Given the description of an element on the screen output the (x, y) to click on. 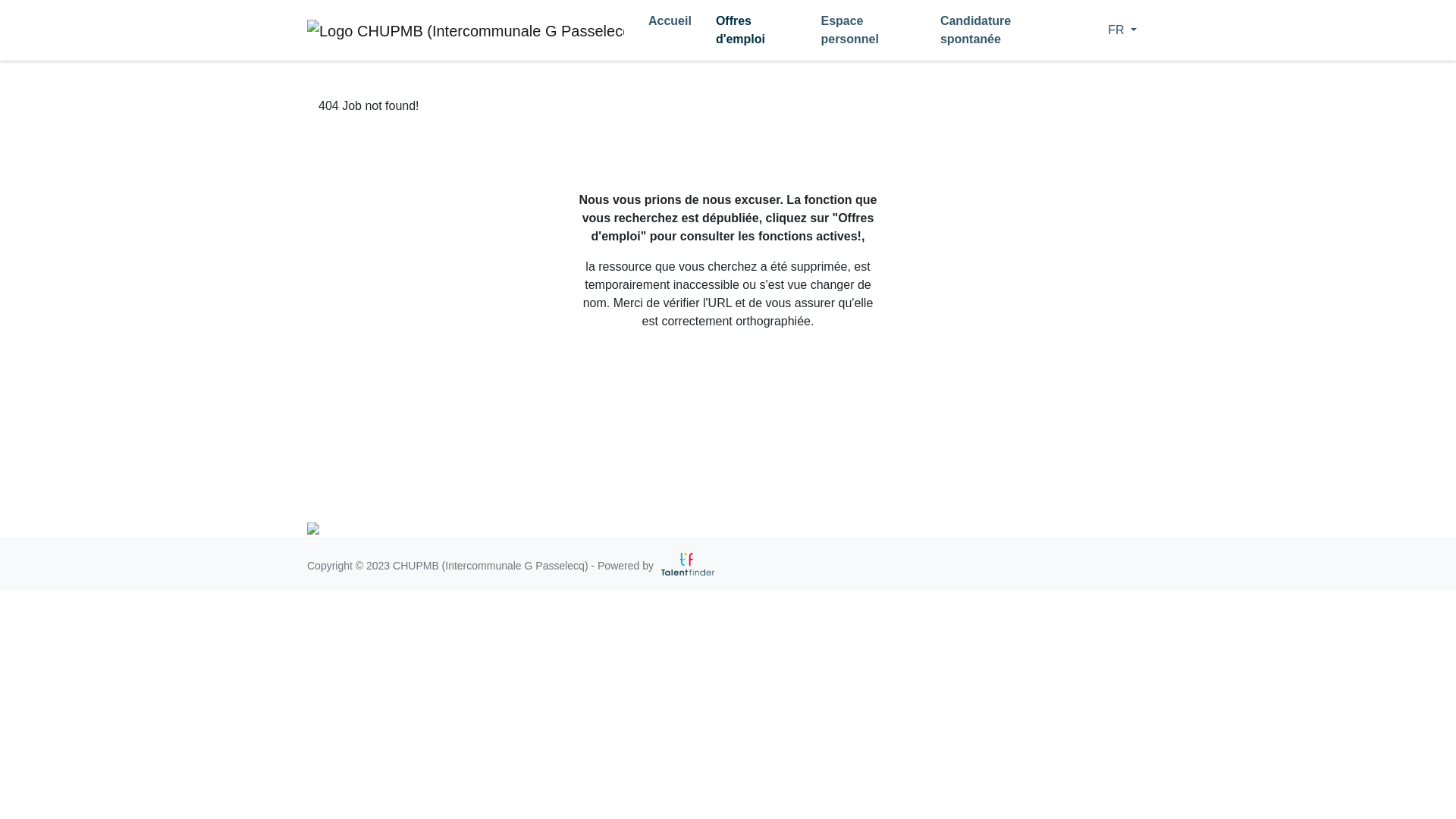
Accueil Element type: text (669, 21)
Offres d'emploi Element type: text (756, 30)
Espace personnel Element type: text (867, 30)
FR Element type: text (1112, 30)
